Given the description of an element on the screen output the (x, y) to click on. 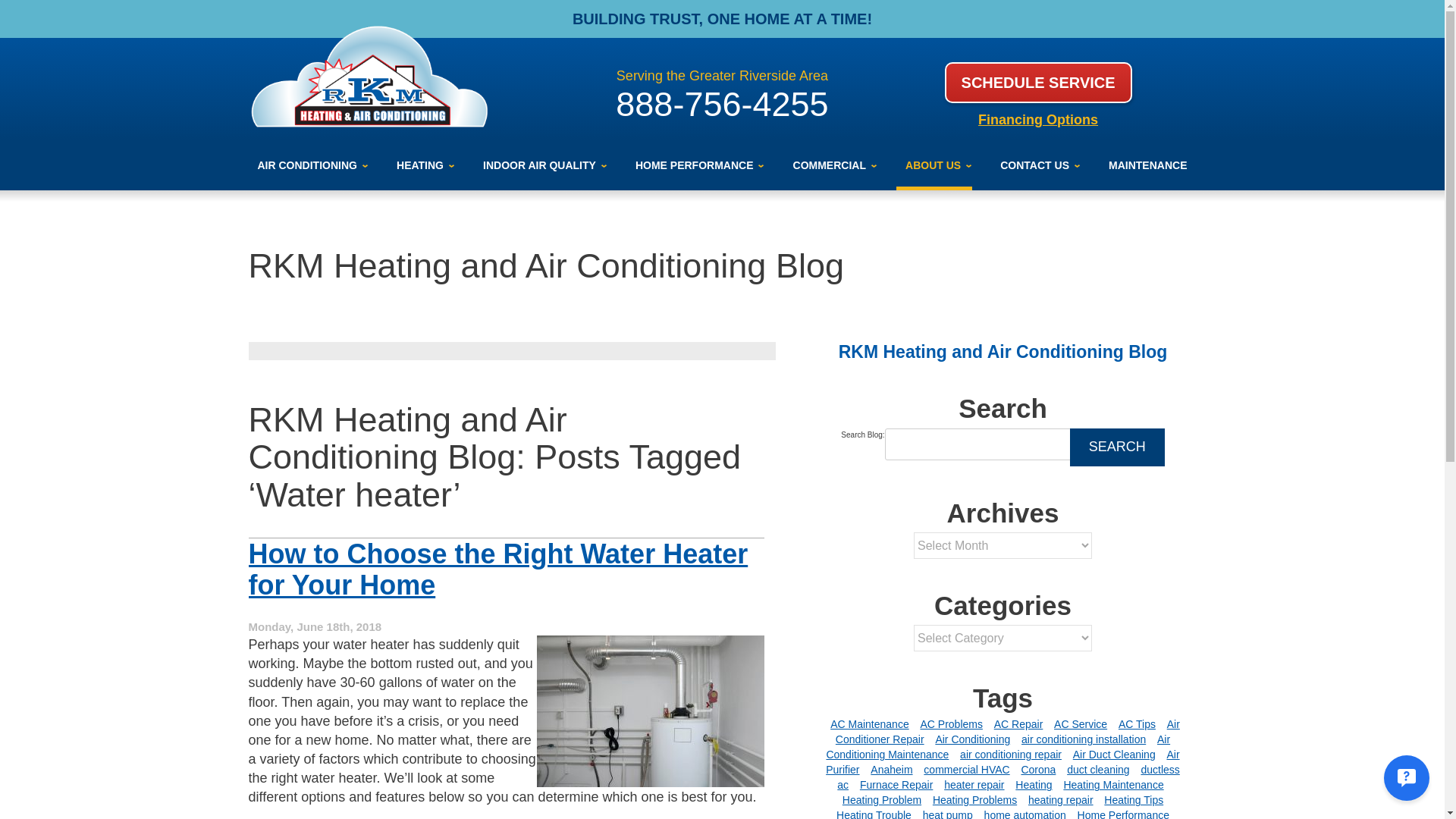
HEATING (420, 165)
INDOOR AIR QUALITY (540, 165)
HOME PERFORMANCE (695, 165)
Financing Options (1037, 119)
SCHEDULE SERVICE (1038, 82)
AIR CONDITIONING (308, 165)
888-756-4255 (721, 104)
